Given the description of an element on the screen output the (x, y) to click on. 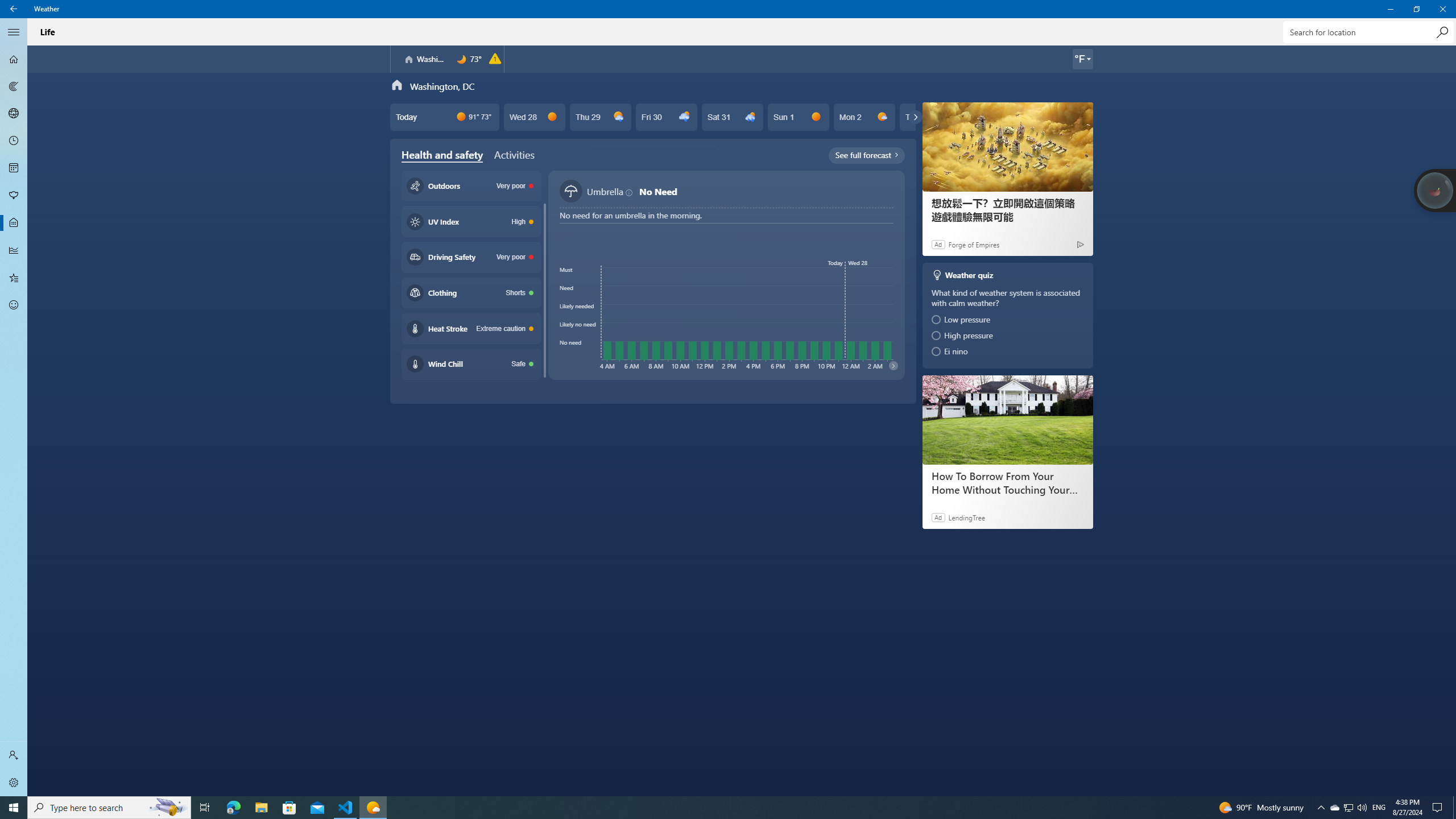
Historical Weather - Not Selected (13, 249)
Hourly Forecast - Not Selected (13, 140)
Forecast - Not Selected (13, 58)
Collapse Navigation (13, 31)
Monthly Forecast - Not Selected (13, 167)
3D Maps - Not Selected (13, 113)
Pollen - Not Selected (13, 195)
Hourly Forecast - Not Selected (13, 140)
Maps - Not Selected (13, 85)
3D Maps - Not Selected (13, 113)
Pollen - Not Selected (13, 195)
